Given the description of an element on the screen output the (x, y) to click on. 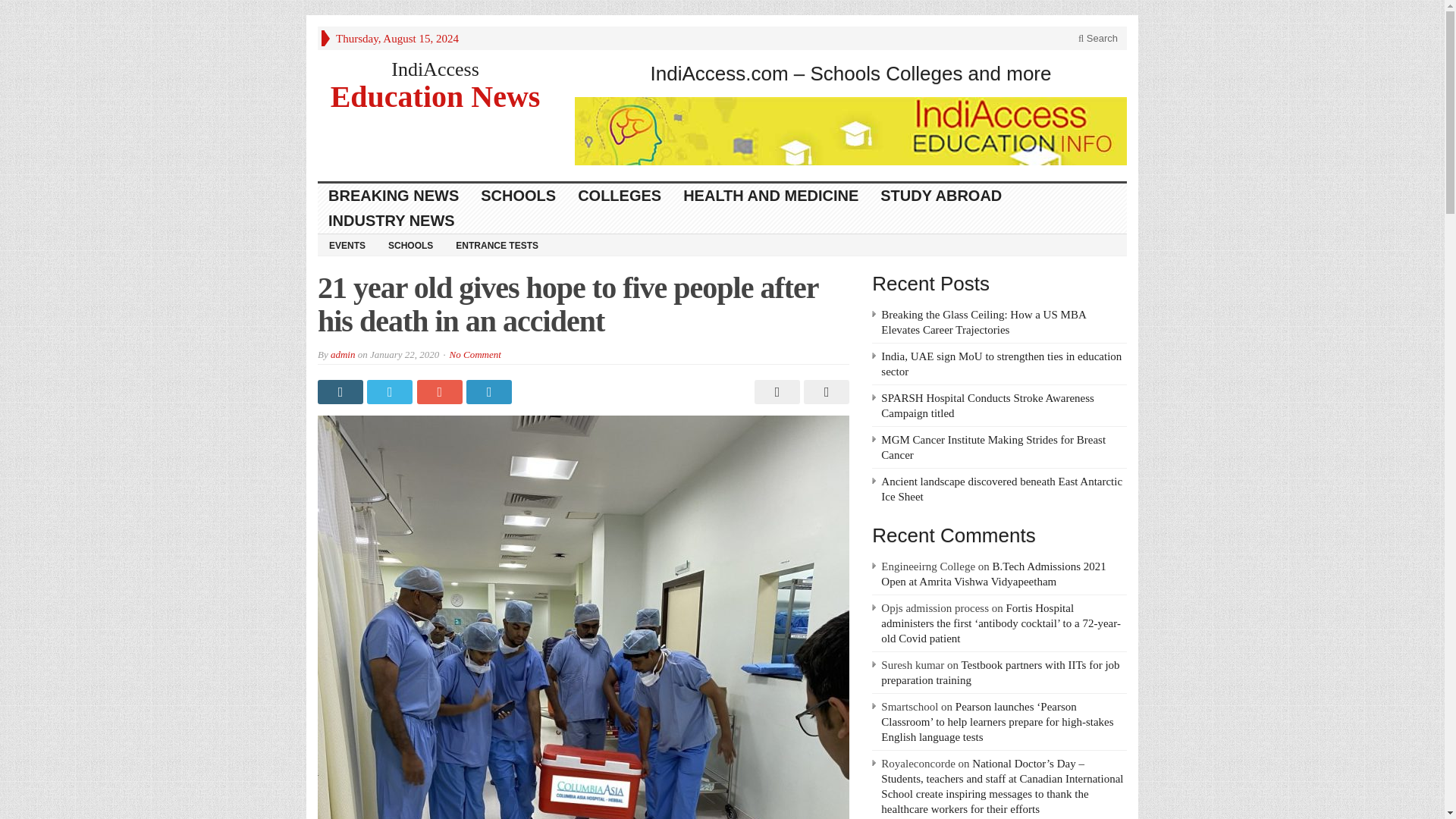
ENTRANCE TESTS (497, 244)
INDUSTRY NEWS (391, 220)
Share on Twitter (391, 392)
Share on LinkedIn (490, 392)
HEALTH AND MEDICINE (770, 195)
IndiAccess (435, 69)
Share on Facebook (341, 392)
STUDY ABROAD (941, 195)
